Given the description of an element on the screen output the (x, y) to click on. 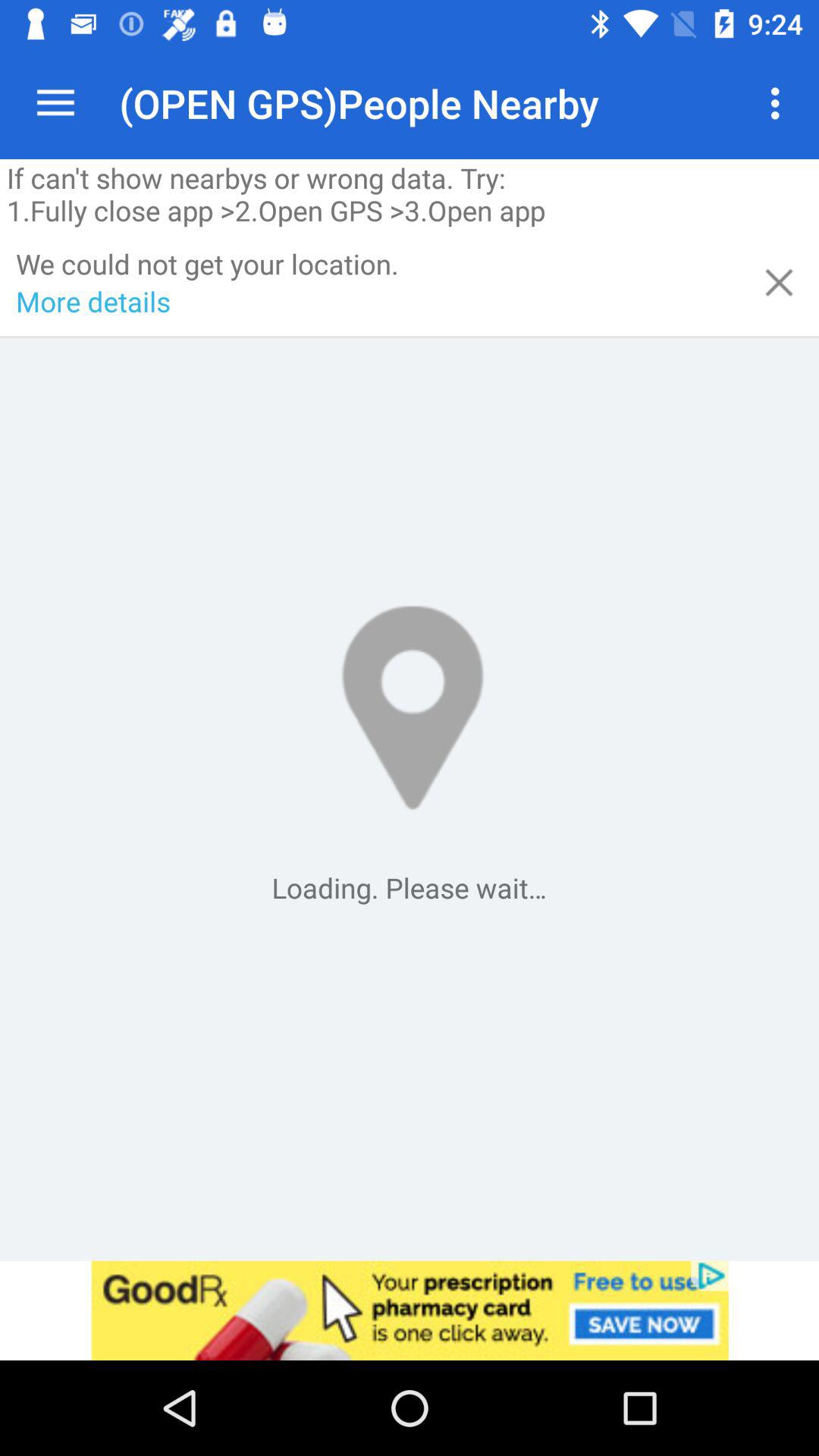
close item (779, 282)
